Given the description of an element on the screen output the (x, y) to click on. 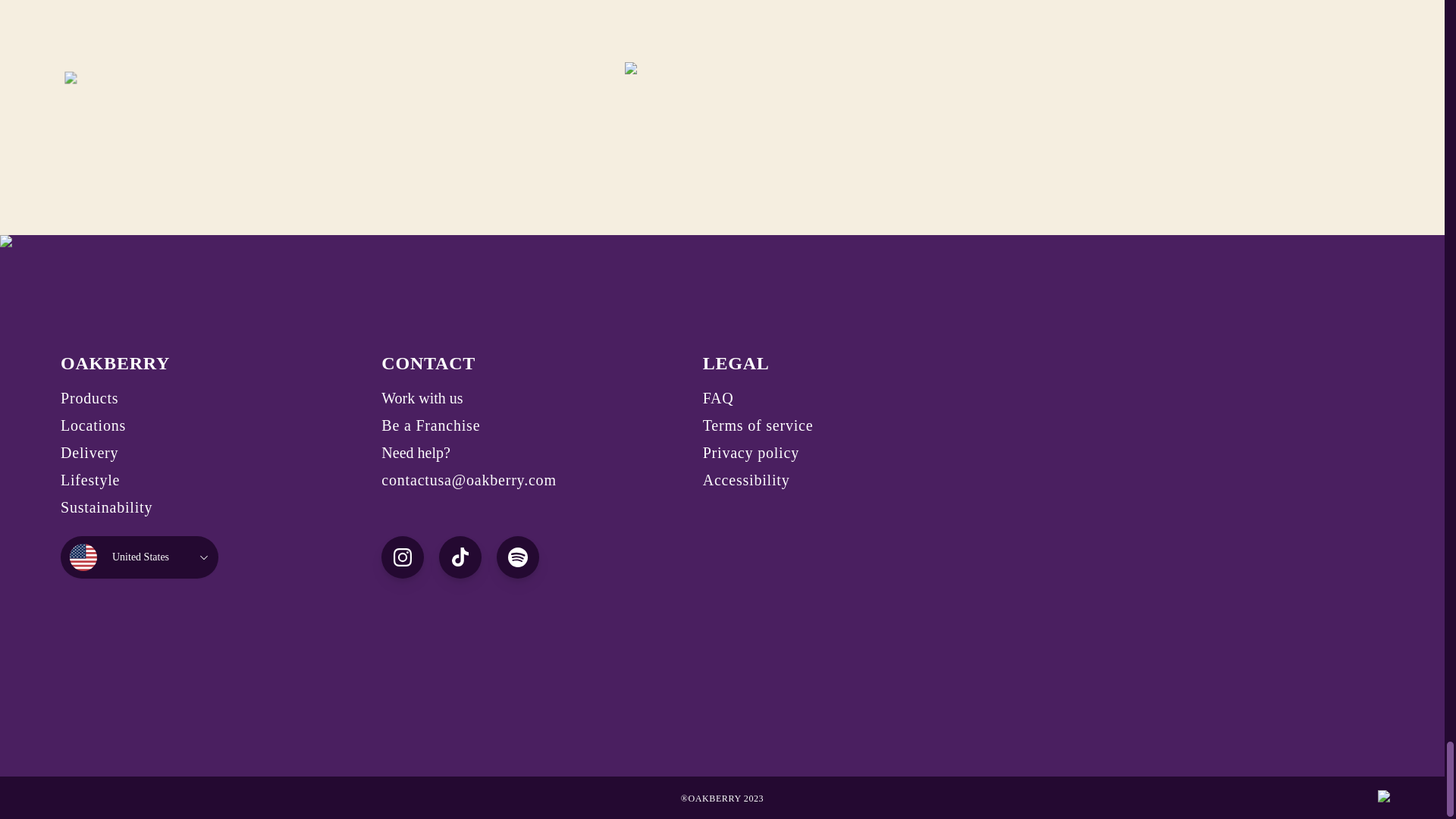
Products (89, 397)
Sustainability (106, 506)
Be a Franchise (430, 424)
Privacy policy (751, 452)
Developed by Fuel (1392, 797)
Locations (93, 424)
Delivery (89, 452)
Terms of service (758, 424)
Need help? (415, 452)
FAQ (718, 397)
Lifestyle (90, 479)
Work with us (422, 397)
